Given the description of an element on the screen output the (x, y) to click on. 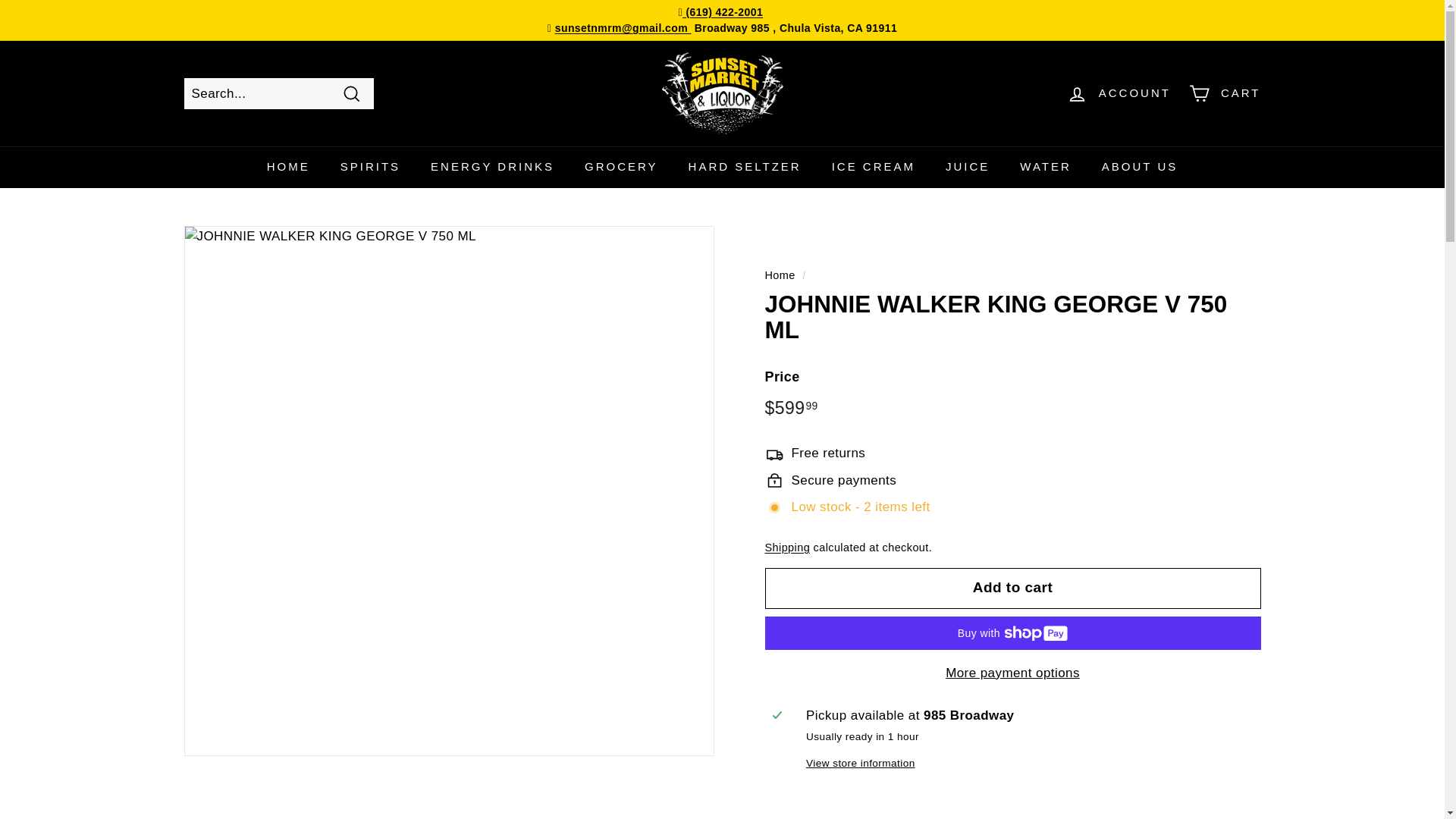
ACCOUNT (1118, 93)
HOME (287, 167)
Back to the frontpage (779, 275)
SPIRITS (369, 167)
